Given the description of an element on the screen output the (x, y) to click on. 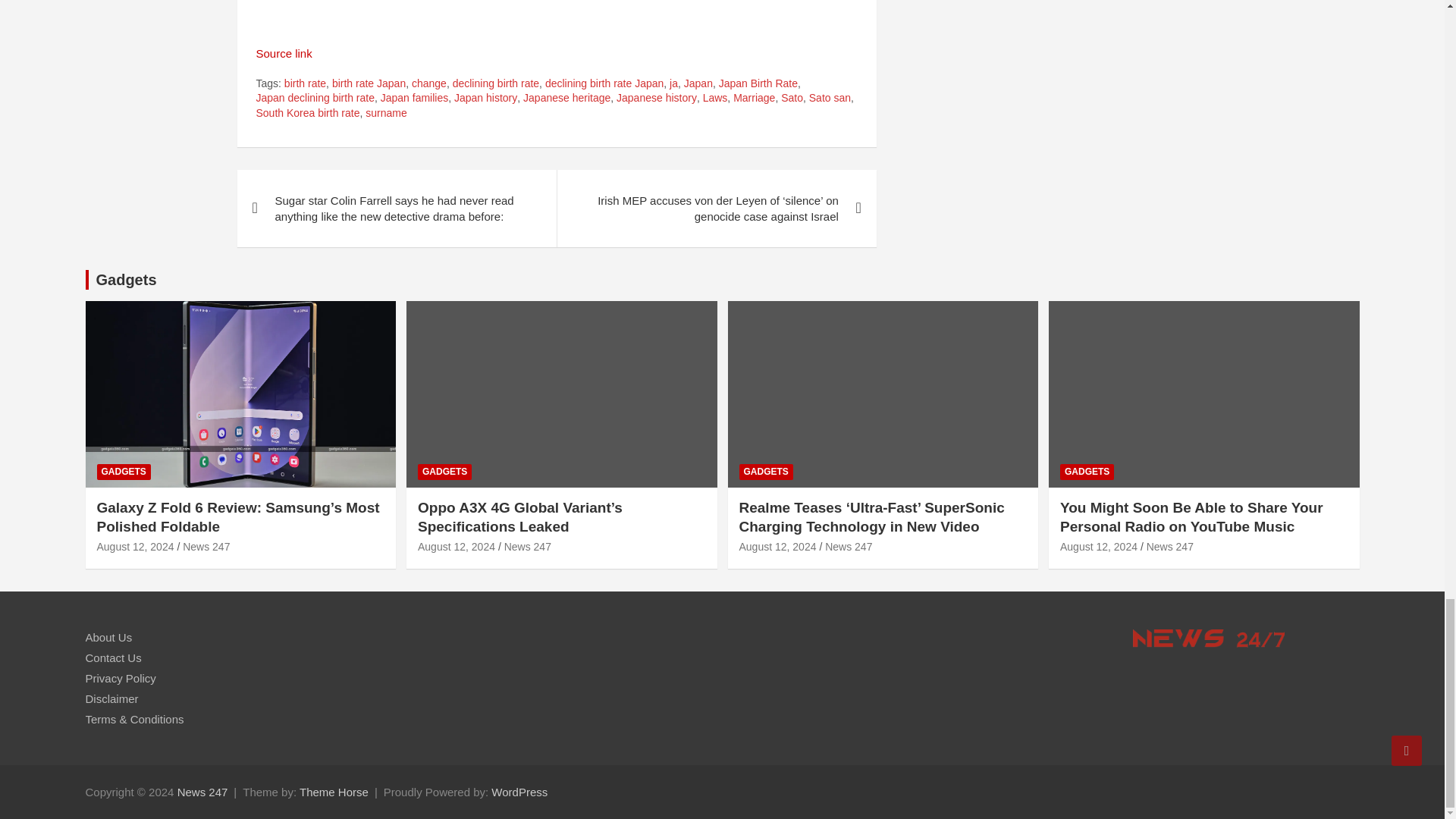
Japan history (485, 98)
change (429, 83)
Japan (698, 83)
Japan Birth Rate (758, 83)
Theme Horse (333, 791)
surname (385, 113)
Laws (715, 98)
Japanese history (656, 98)
WordPress (519, 791)
Marriage (753, 98)
